Given the description of an element on the screen output the (x, y) to click on. 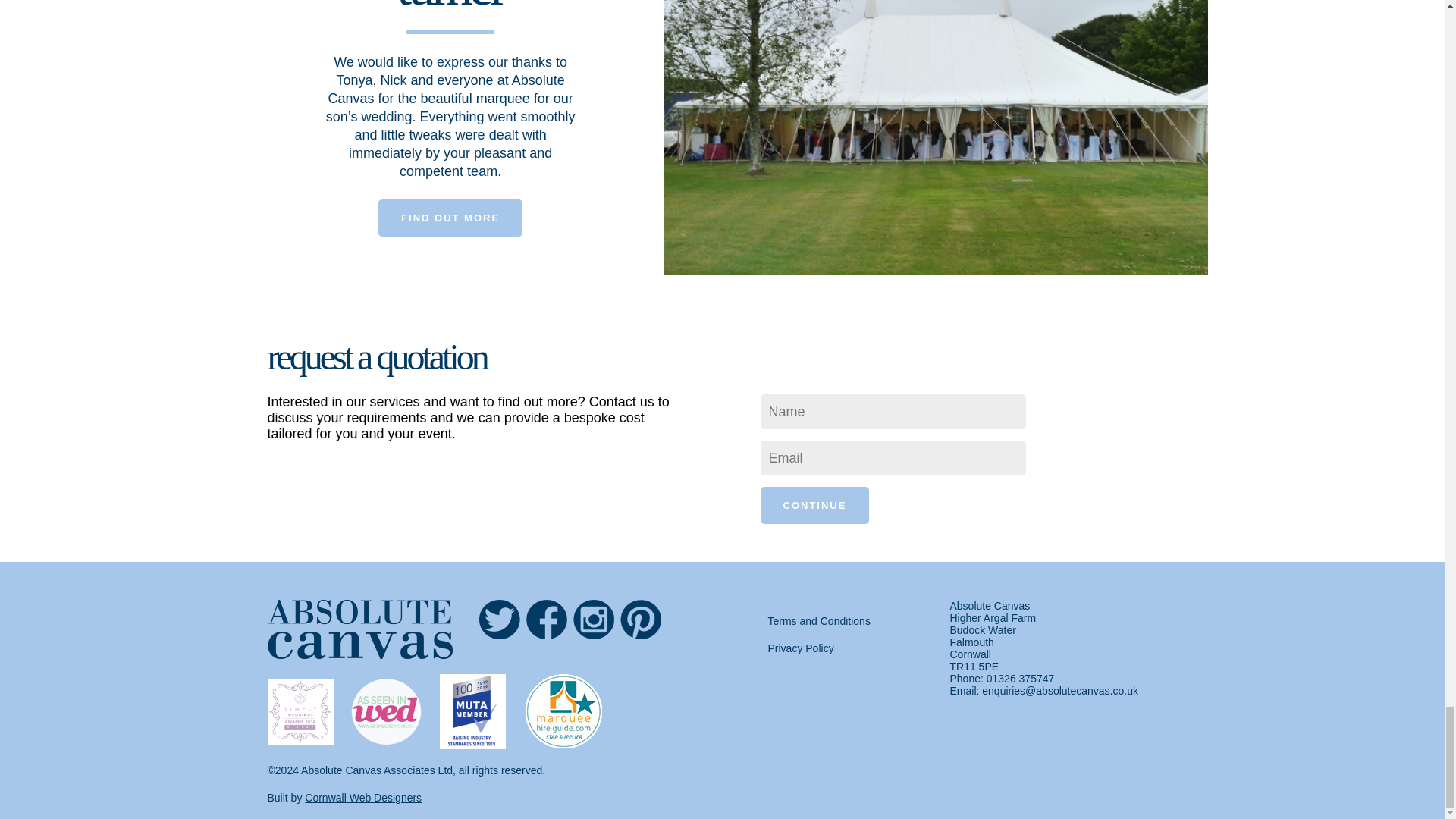
Simply Weddings Award Winner (299, 711)
As seen in Wed Magazine (387, 711)
Cornwall Web Designers (363, 797)
Follow Absolute Canvas on Twitter (499, 619)
Muta Members (472, 711)
Marquee Hire Guide - Star Supplier (561, 711)
Absolute Canvas on Instagram (593, 619)
Follow Absolute Canvas on Twitter (499, 619)
Terms and Conditions (818, 621)
Find Absolute Canvas on Facebook (546, 619)
Absolute Canvas on Instagram (593, 619)
Absolute Canvas on Pinterest (640, 619)
FIND OUT MORE (450, 217)
Absolute Canvas on Pinterest (640, 619)
Absolute Canvas (358, 629)
